Given the description of an element on the screen output the (x, y) to click on. 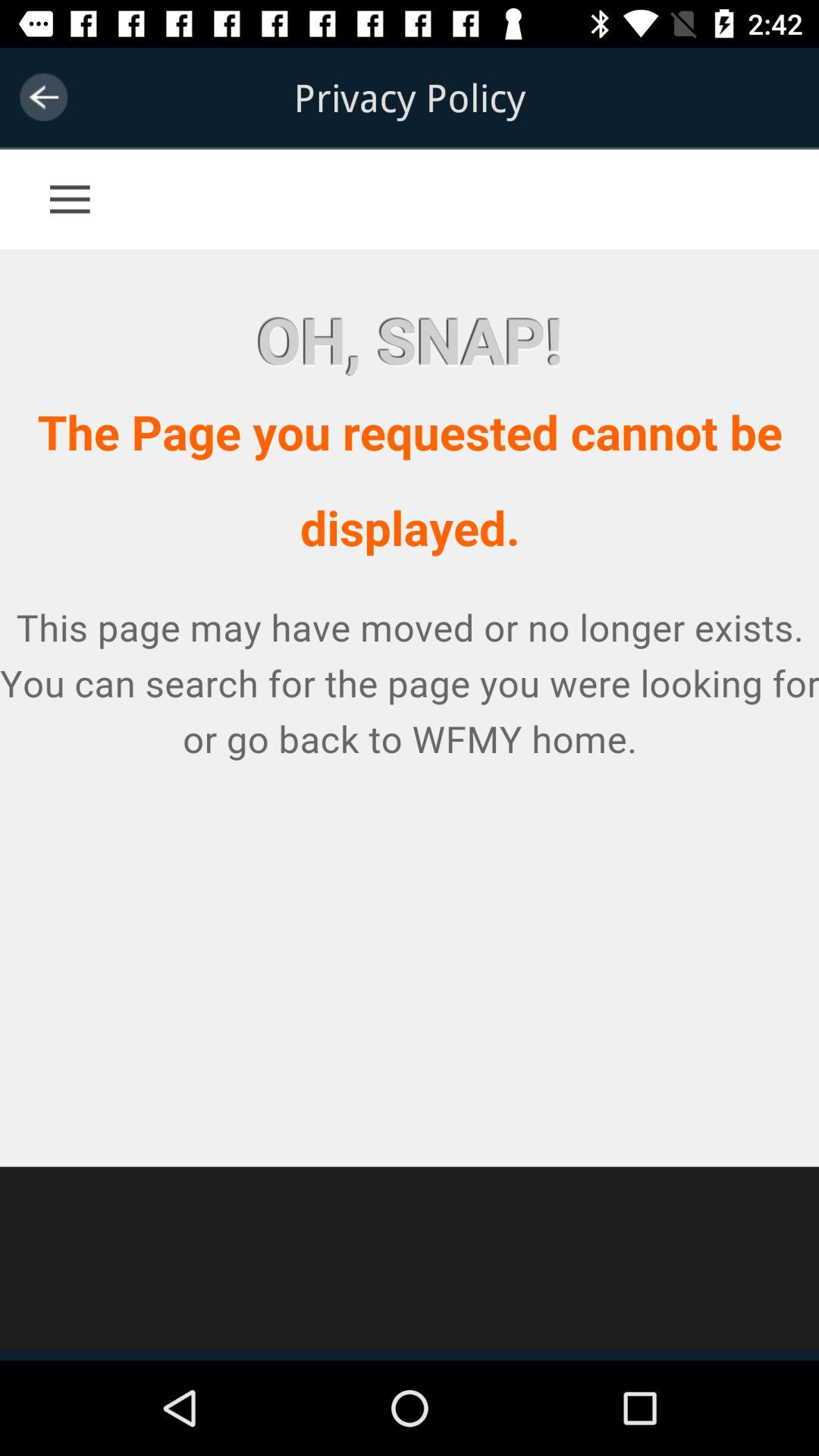
opens an options menu (99, 182)
